Given the description of an element on the screen output the (x, y) to click on. 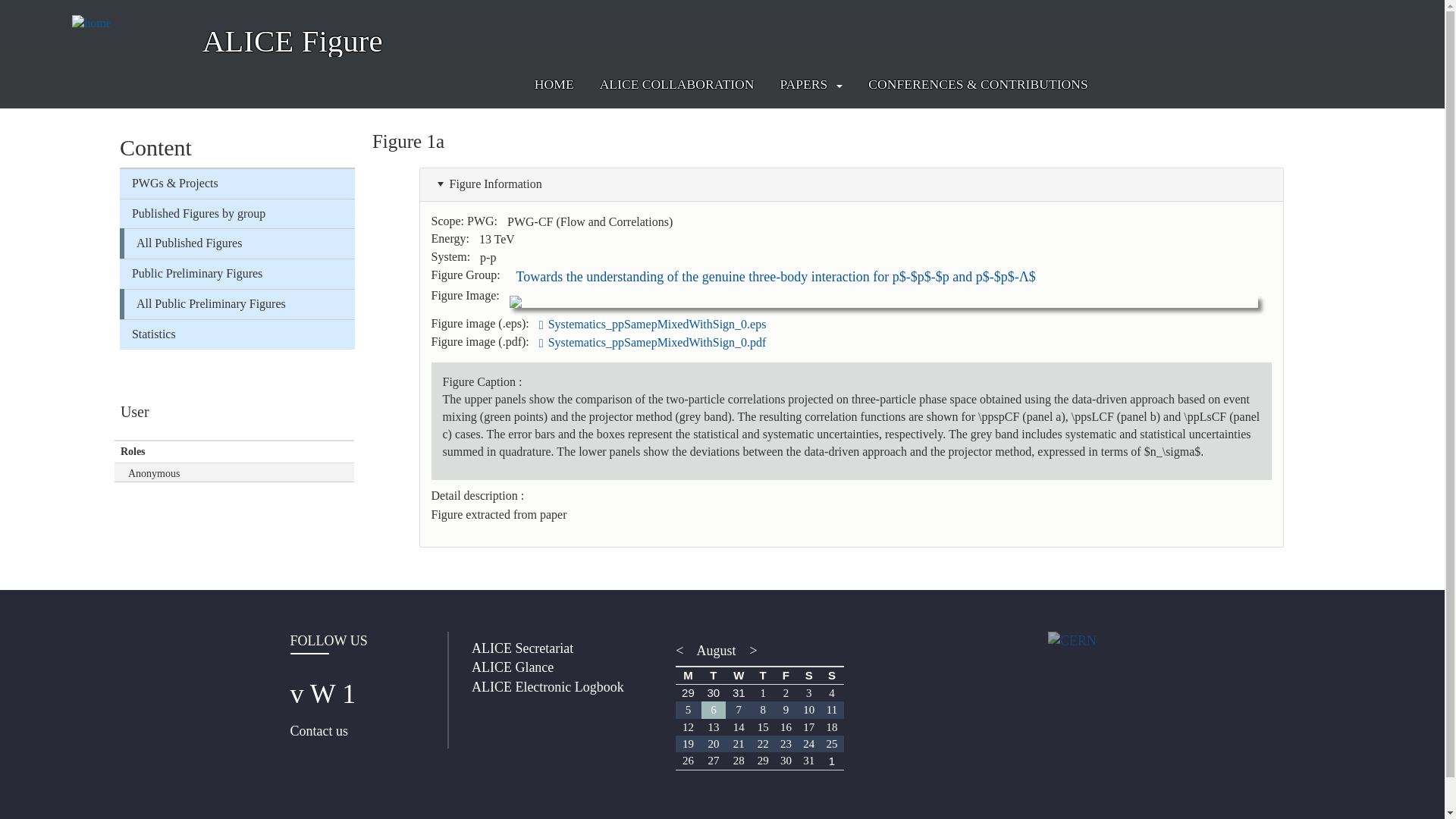
All Published Figures (239, 243)
CERN (1083, 640)
Main ALICE collaboration site (676, 84)
ALICE Electronic Logbook (547, 686)
ALICE Figure (292, 39)
  August   (716, 650)
1 (763, 692)
Search CERN resources and browse the directory (1350, 14)
PAPERS (802, 84)
Home (132, 23)
